Given the description of an element on the screen output the (x, y) to click on. 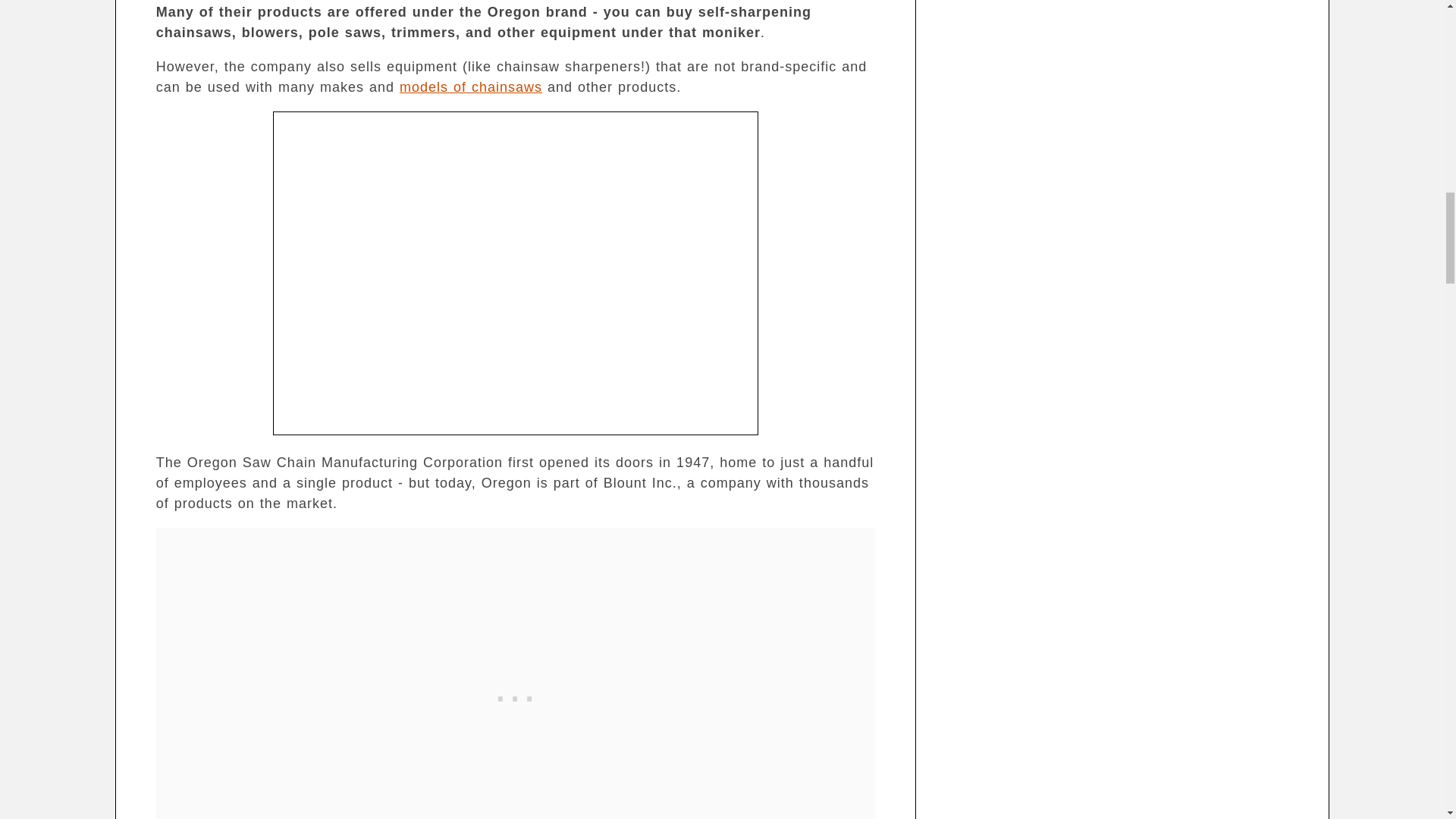
models of chainsaws (469, 87)
